Given the description of an element on the screen output the (x, y) to click on. 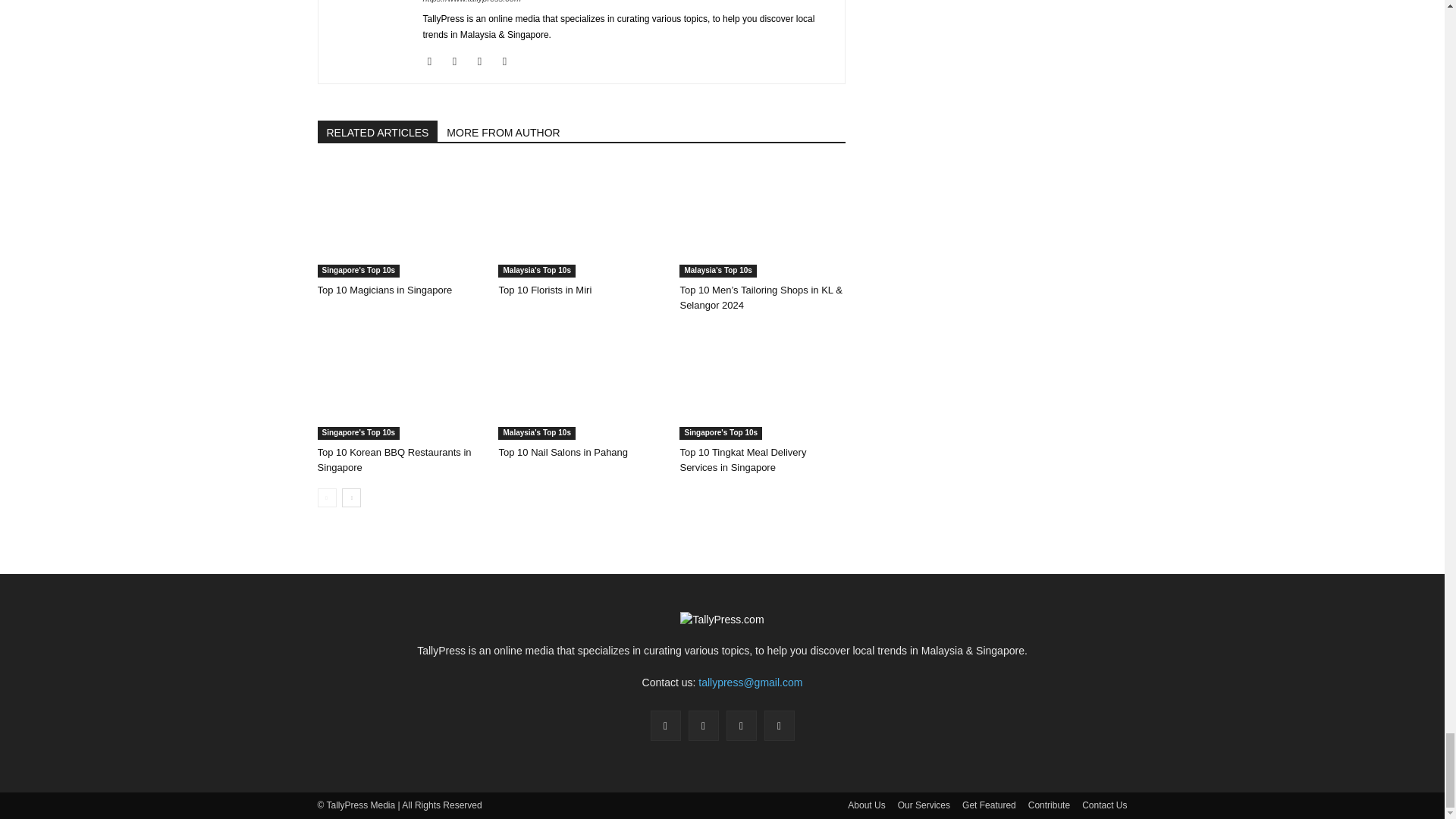
Top 10 Magicians in Singapore (399, 220)
Twitter (509, 61)
Facebook (435, 61)
Instagram (458, 61)
Linkedin (485, 61)
